Given the description of an element on the screen output the (x, y) to click on. 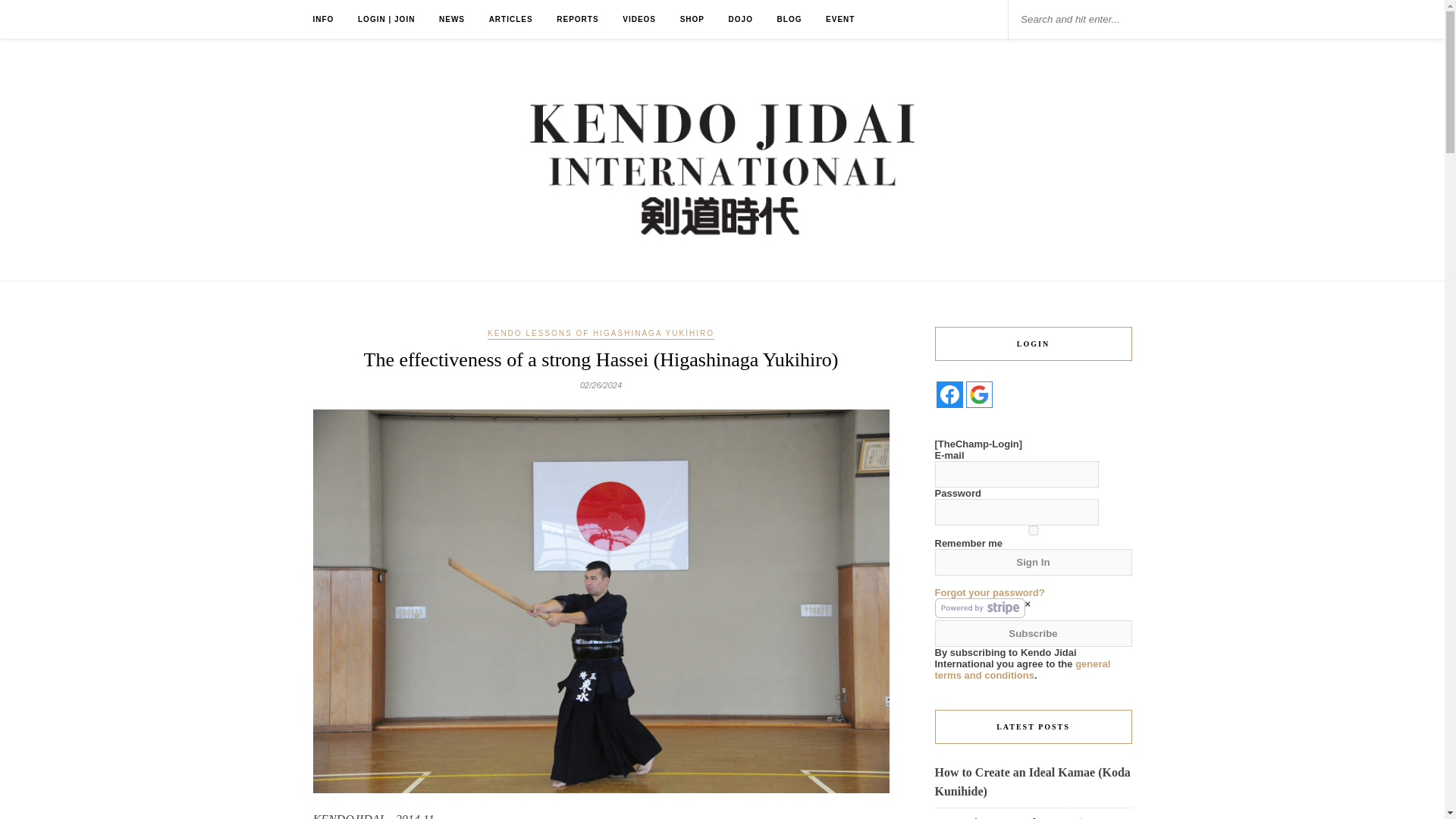
KENDO LESSONS OF HIGASHINAGA YUKIHIRO (600, 334)
forever (1032, 530)
Login with Facebook (949, 394)
ARTICLES (510, 19)
Subscribe (1032, 633)
REPORTS (577, 19)
Sign In (1032, 561)
Login with Google (979, 394)
View all posts in kendo lessons of Higashinaga Yukihiro (600, 334)
